Given the description of an element on the screen output the (x, y) to click on. 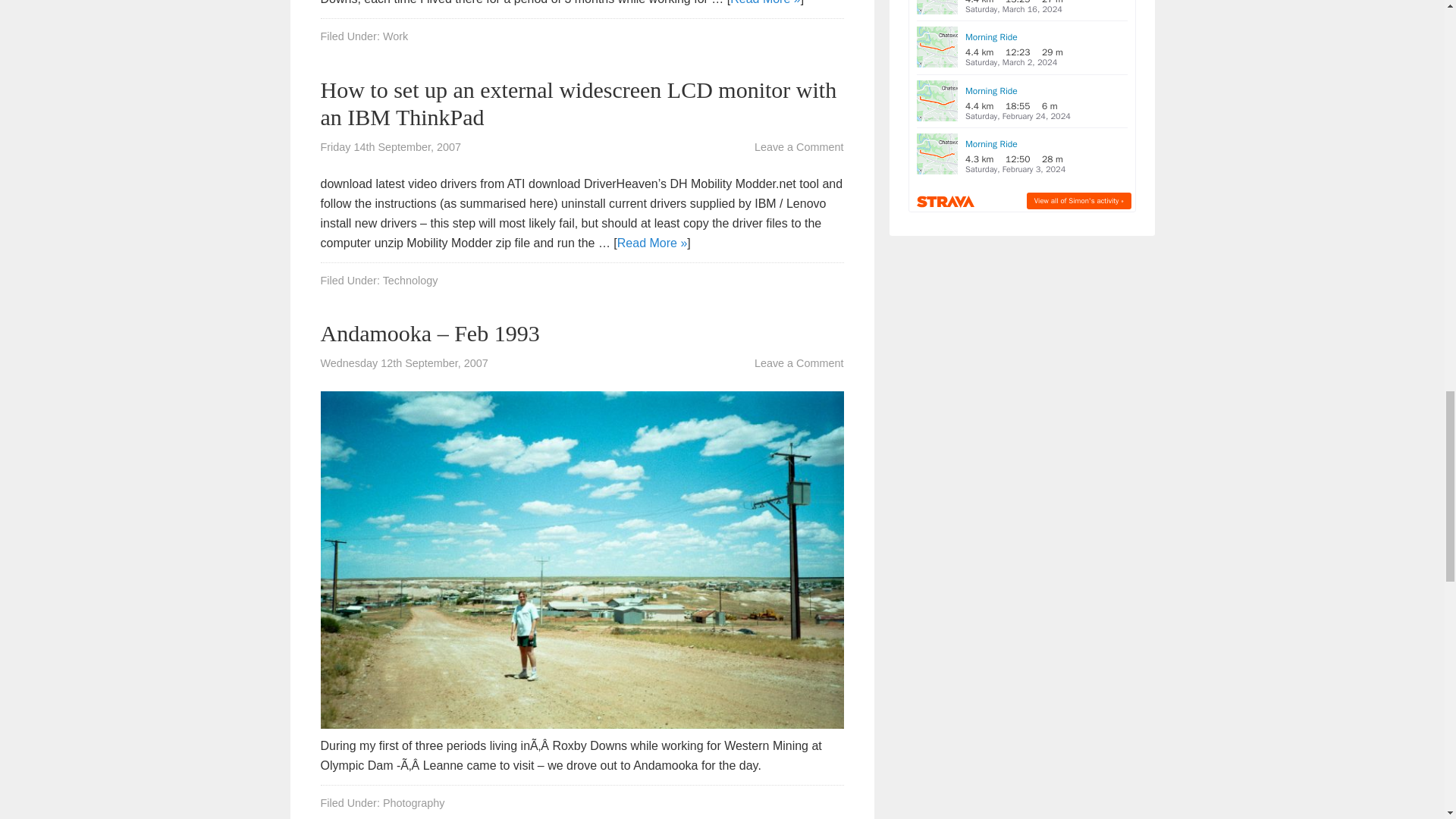
Technology (410, 280)
Work (394, 36)
Photography (413, 802)
Leave a Comment (799, 363)
Leave a Comment (799, 146)
